Given the description of an element on the screen output the (x, y) to click on. 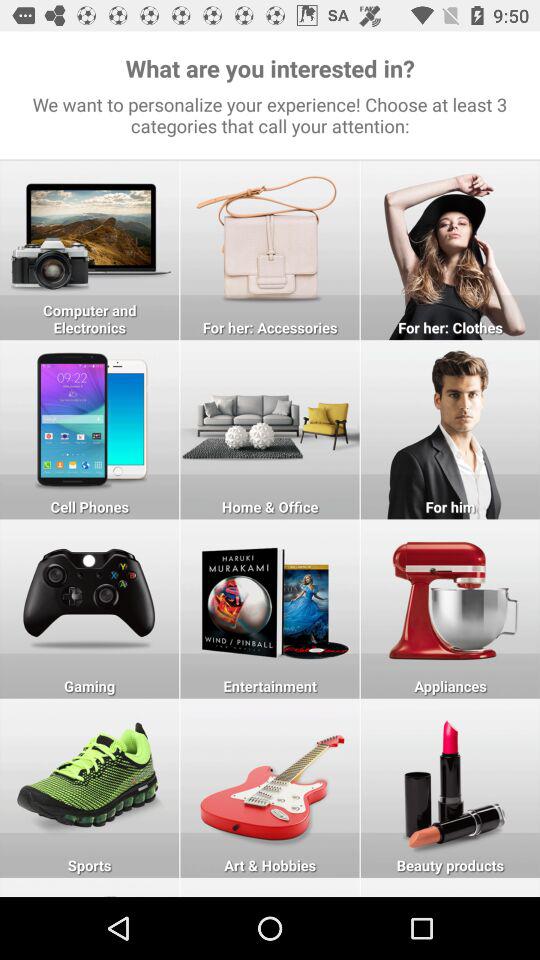
add interest for women 's accessories (269, 250)
